Given the description of an element on the screen output the (x, y) to click on. 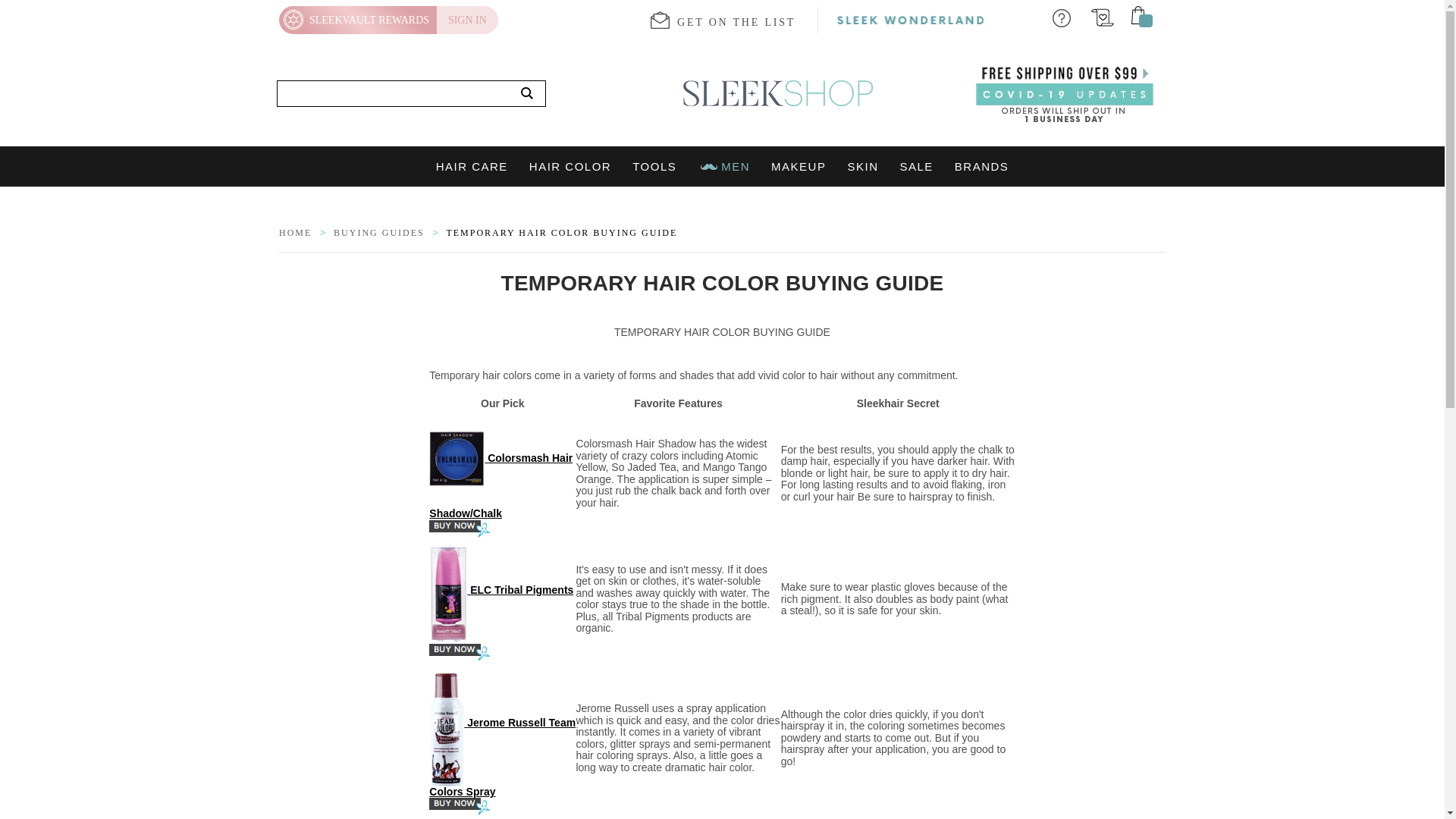
SLEEKVAULT REWARDS (357, 19)
Search the store (526, 94)
SIGN IN (466, 19)
sleek wonderland (910, 19)
SleekVault Rewards (357, 19)
Sign In (466, 19)
HAIR CARE (471, 166)
